Given the description of an element on the screen output the (x, y) to click on. 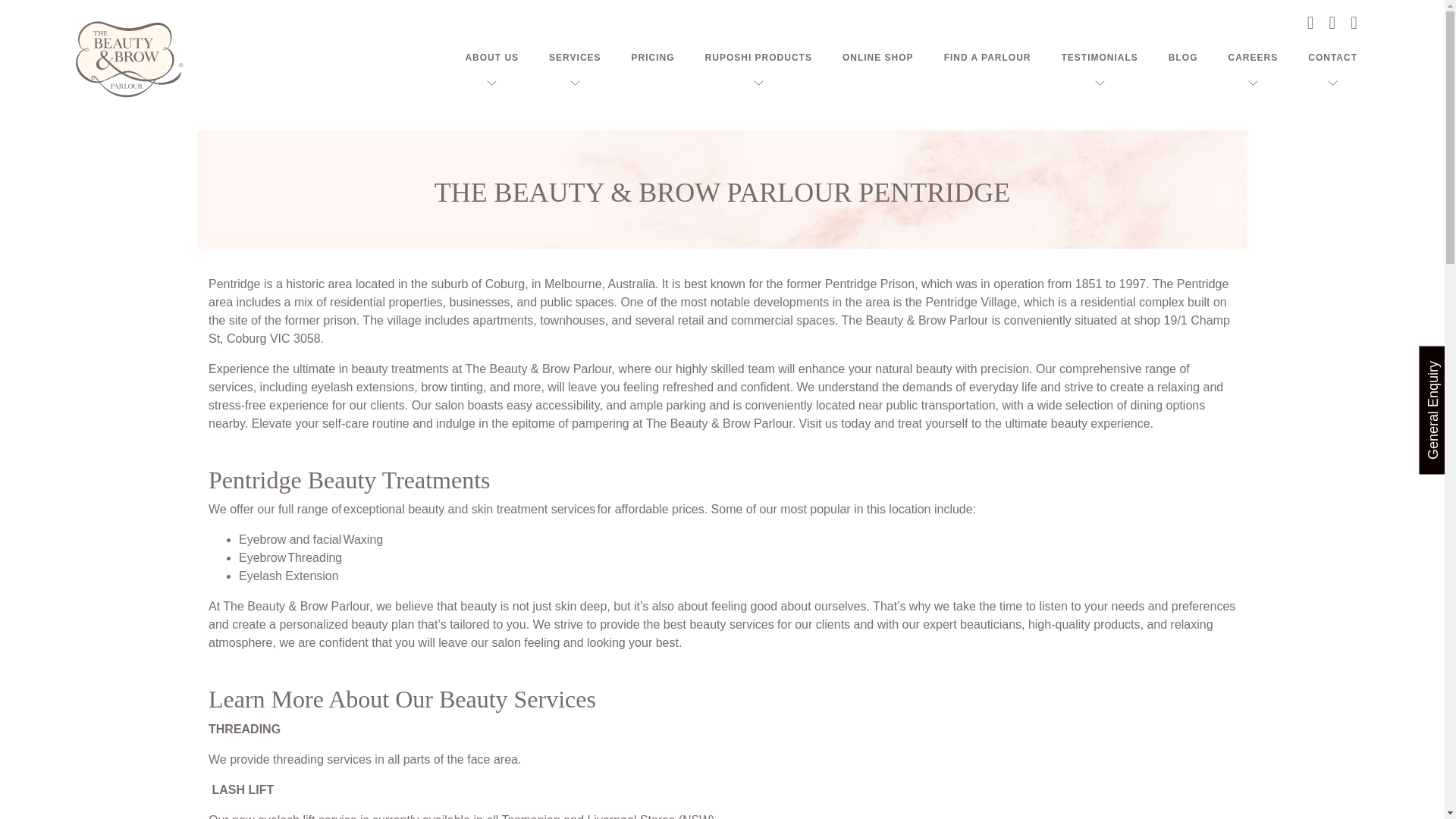
RUPOSHI PRODUCTS (758, 57)
PRICING (653, 57)
TESTIMONIALS (1099, 57)
ONLINE SHOP (878, 57)
CAREERS (1253, 57)
ABOUT US (491, 57)
FIND A PARLOUR (986, 57)
CONTACT (1331, 57)
BLOG (1183, 57)
SERVICES (573, 57)
